Given the description of an element on the screen output the (x, y) to click on. 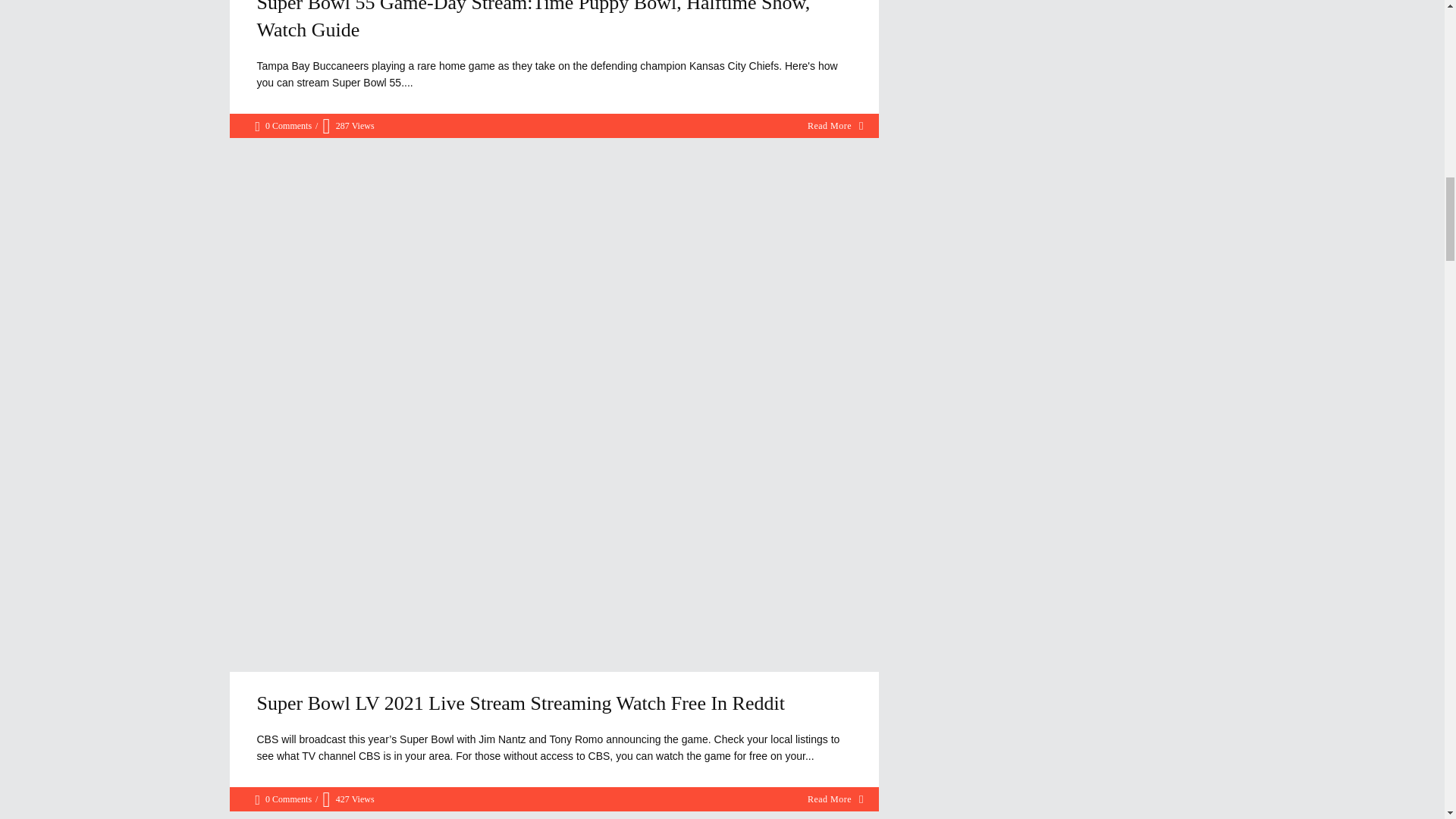
0 Comments (282, 125)
Read More (835, 125)
0 Comments (282, 799)
Read More (835, 799)
